Given the description of an element on the screen output the (x, y) to click on. 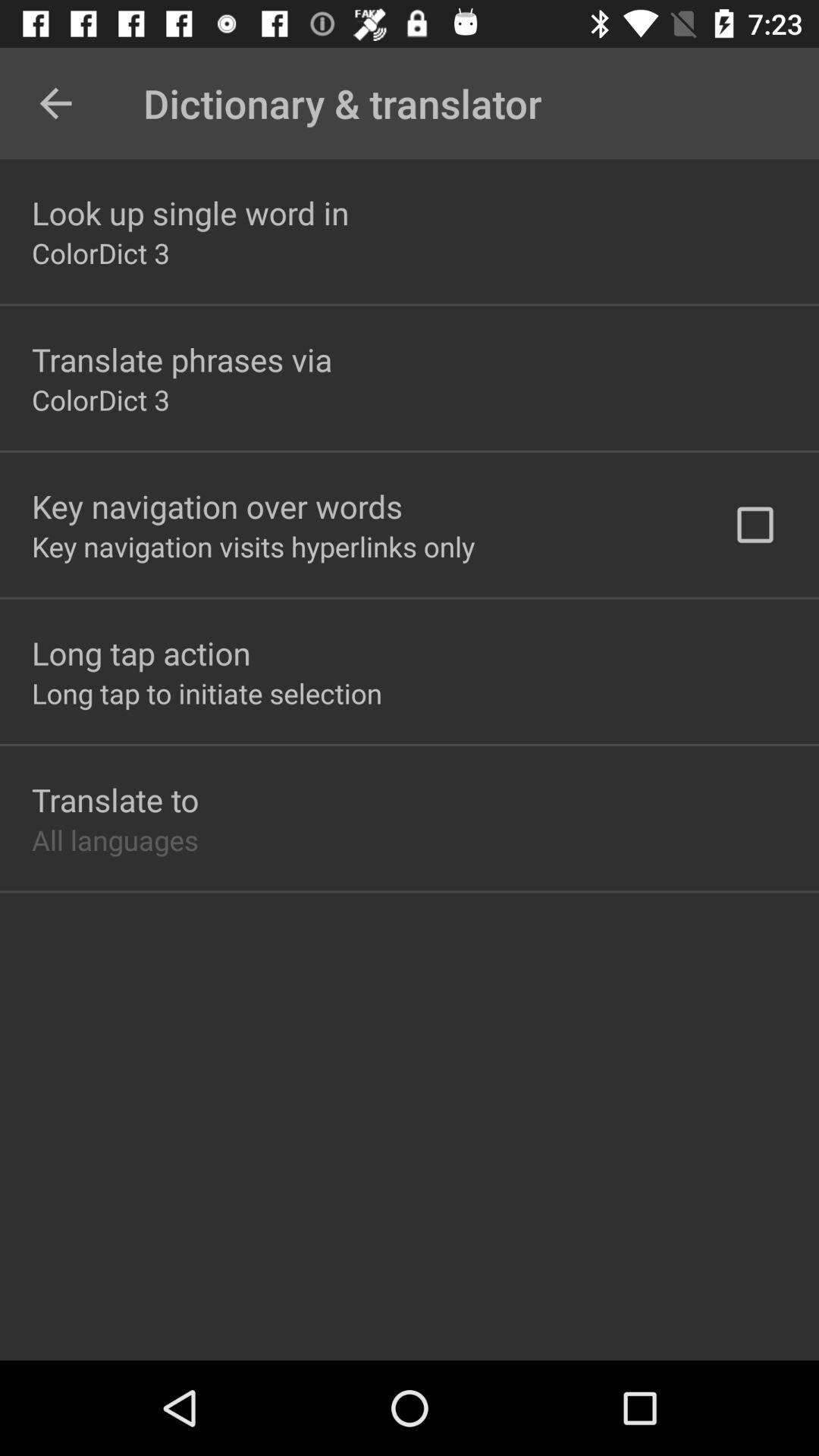
open icon next to the key navigation visits item (755, 524)
